Given the description of an element on the screen output the (x, y) to click on. 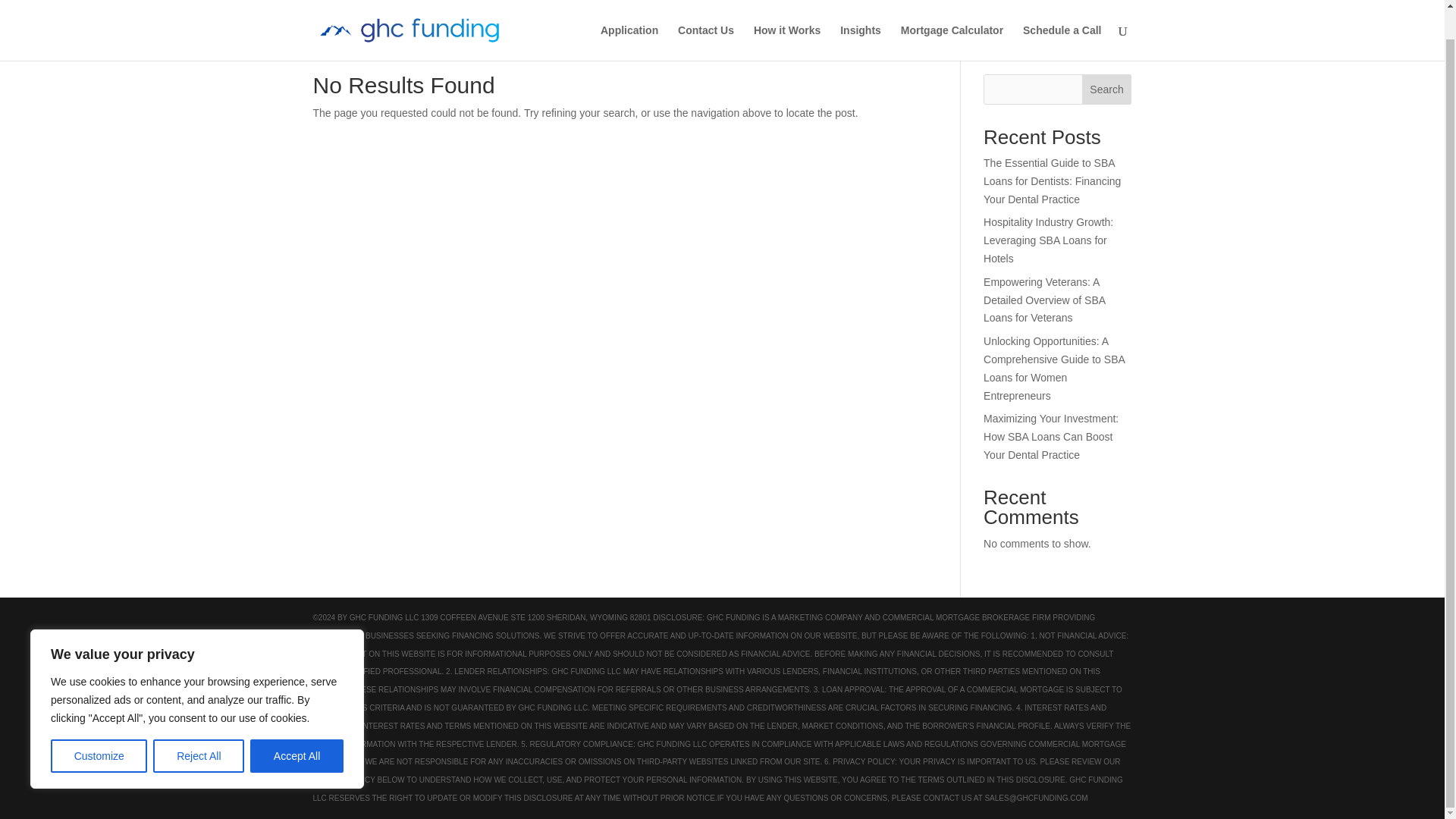
Insights (860, 15)
Search (1106, 89)
Accept All (296, 725)
How it Works (787, 15)
Mortgage Calculator (952, 15)
Hospitality Industry Growth: Leveraging SBA Loans for Hotels (1048, 240)
Application (628, 15)
Contact Us (705, 15)
Schedule a Call (1061, 15)
Reject All (198, 725)
Customize (98, 725)
